Given the description of an element on the screen output the (x, y) to click on. 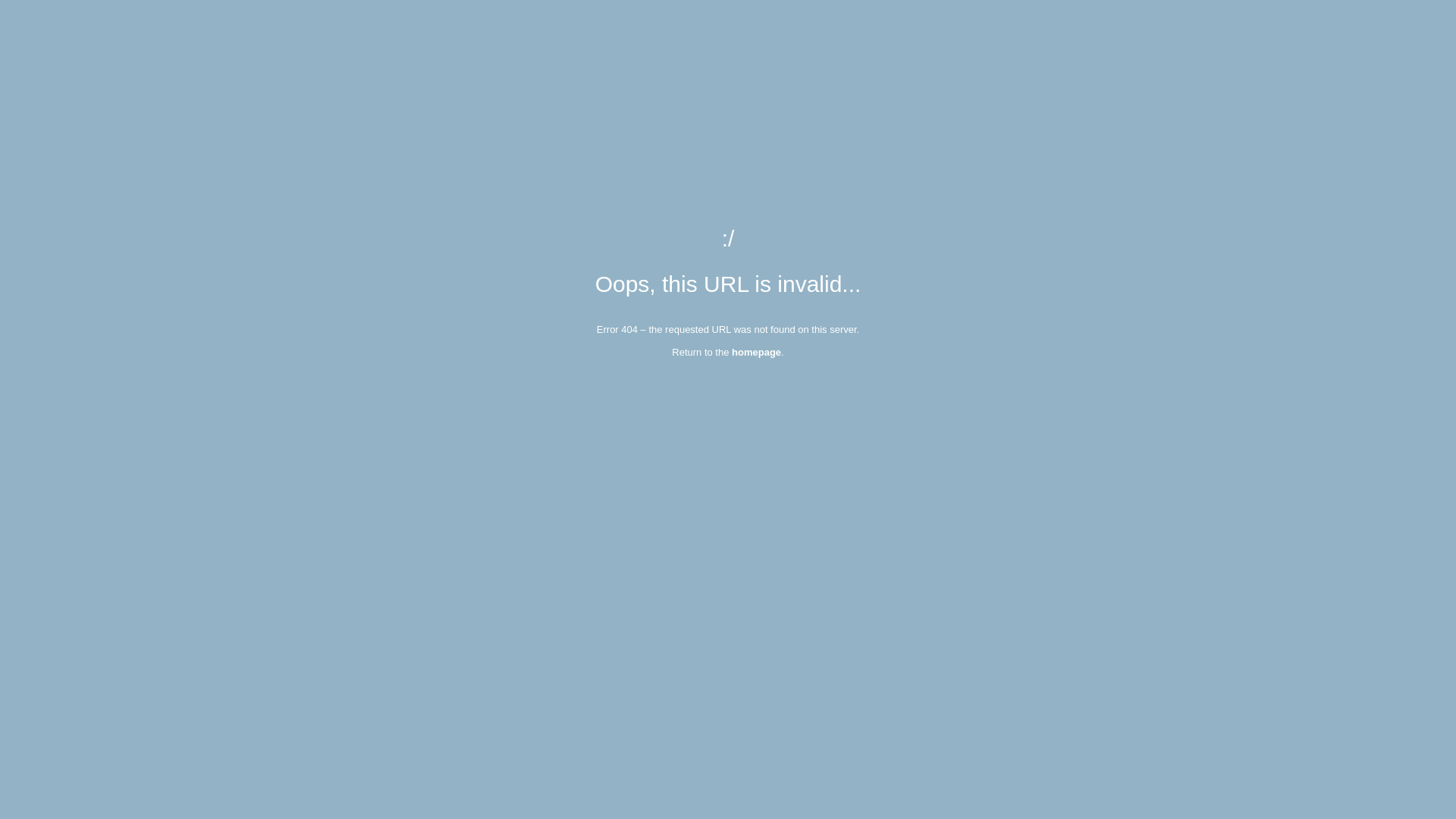
homepage Element type: text (756, 351)
